Given the description of an element on the screen output the (x, y) to click on. 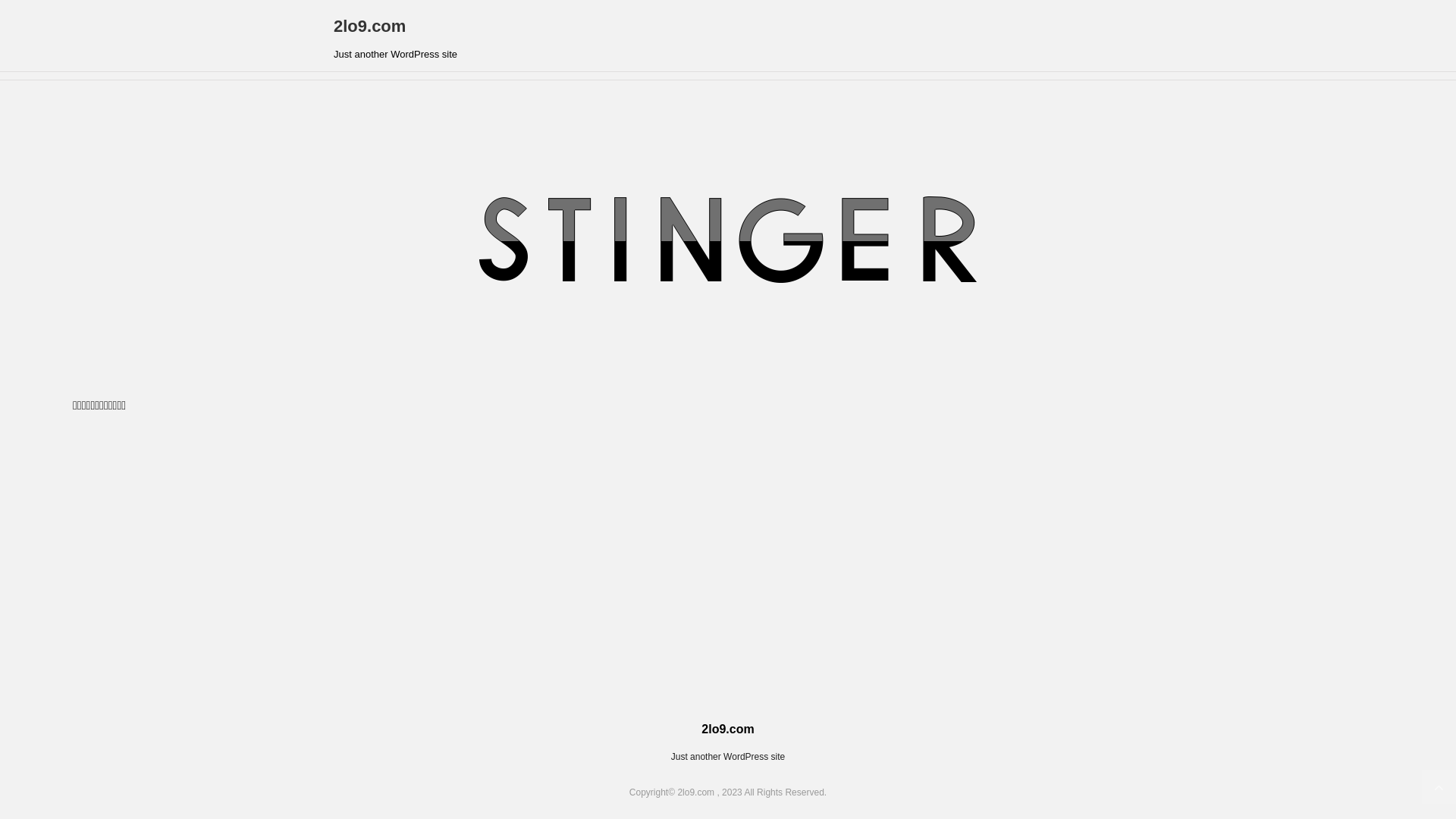
2lo9.com Element type: text (369, 25)
Just another WordPress site Element type: text (728, 756)
